Given the description of an element on the screen output the (x, y) to click on. 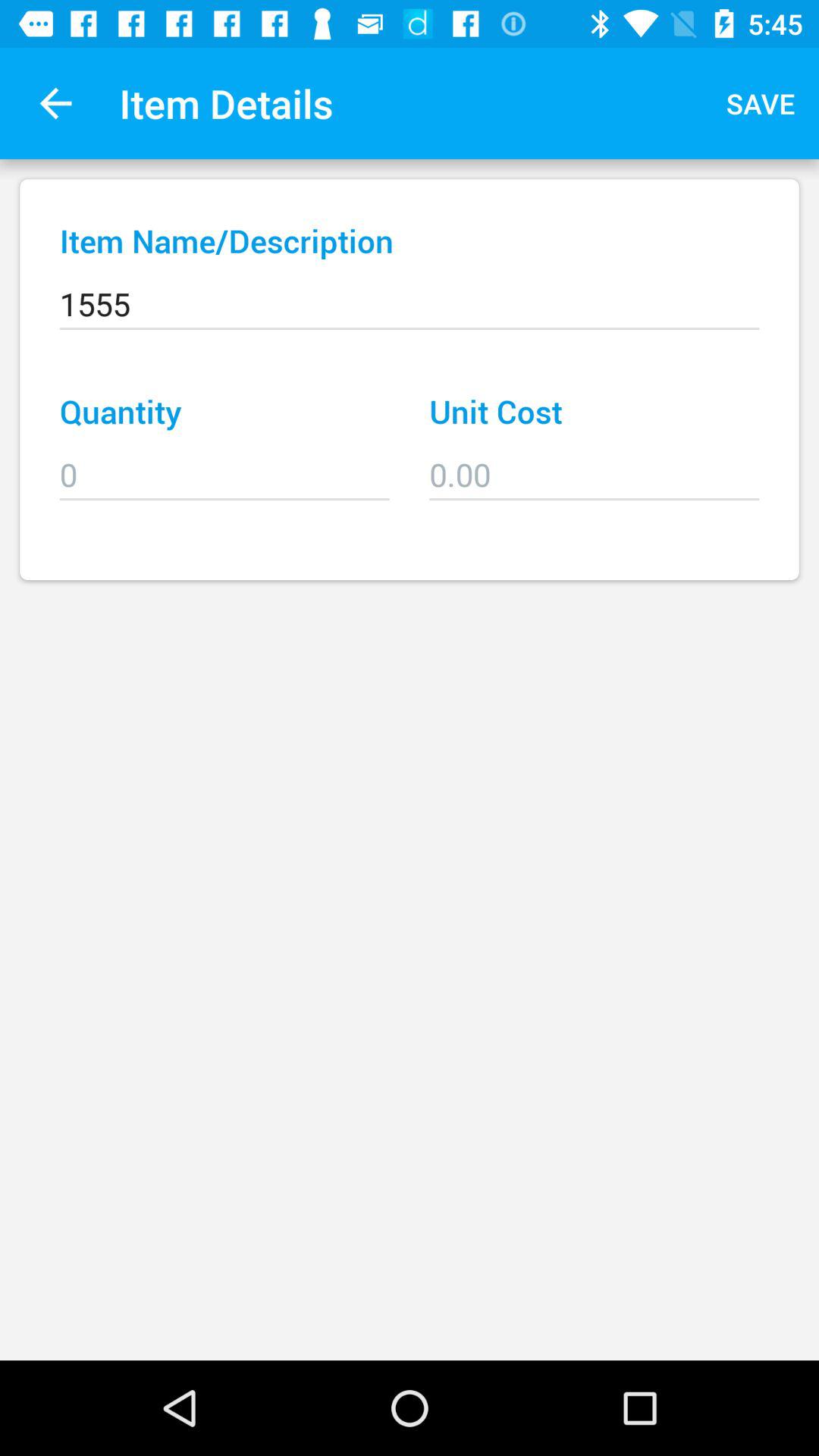
press 1555 icon (409, 293)
